Given the description of an element on the screen output the (x, y) to click on. 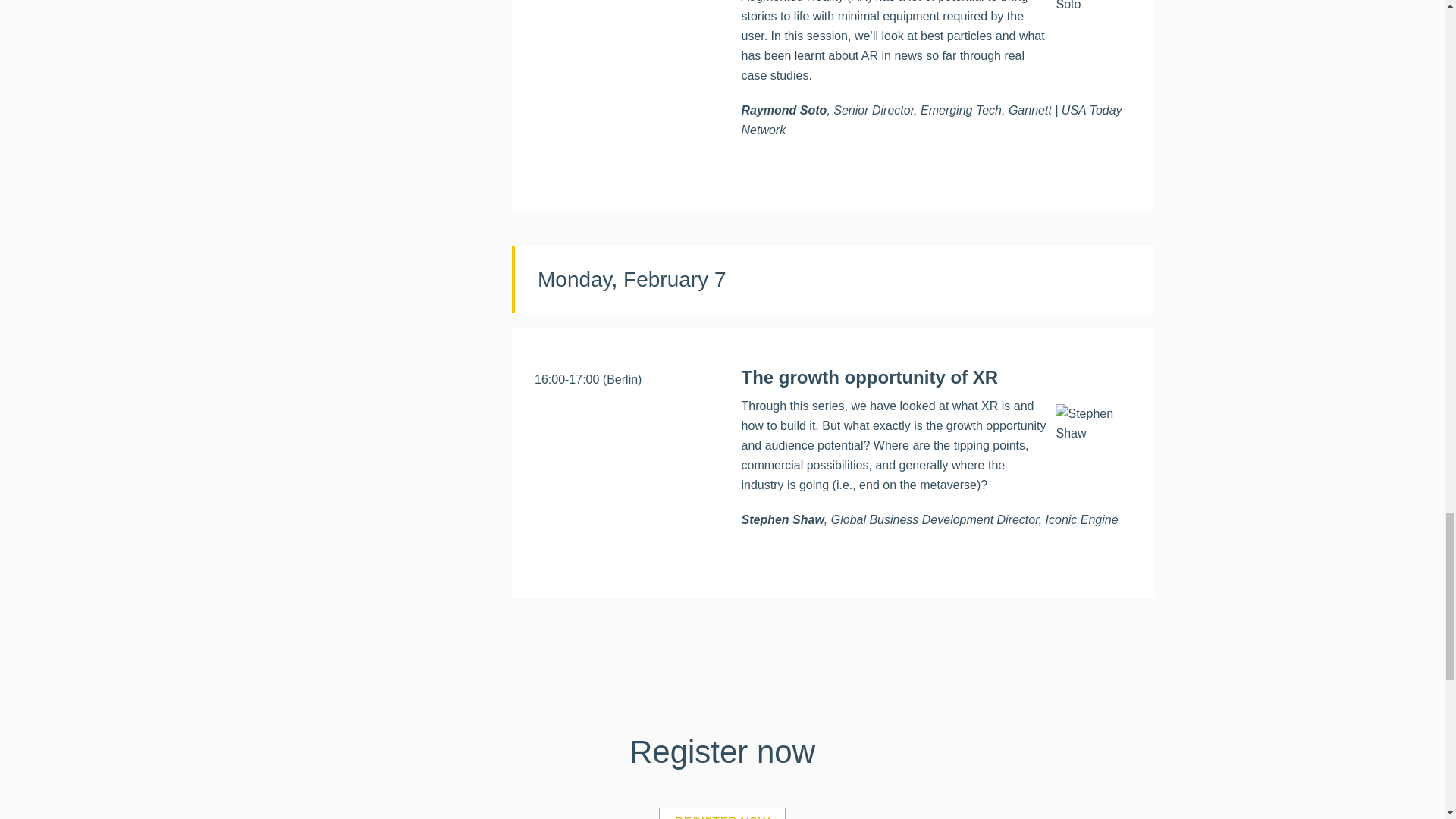
REGISTER NOW (722, 813)
